Given the description of an element on the screen output the (x, y) to click on. 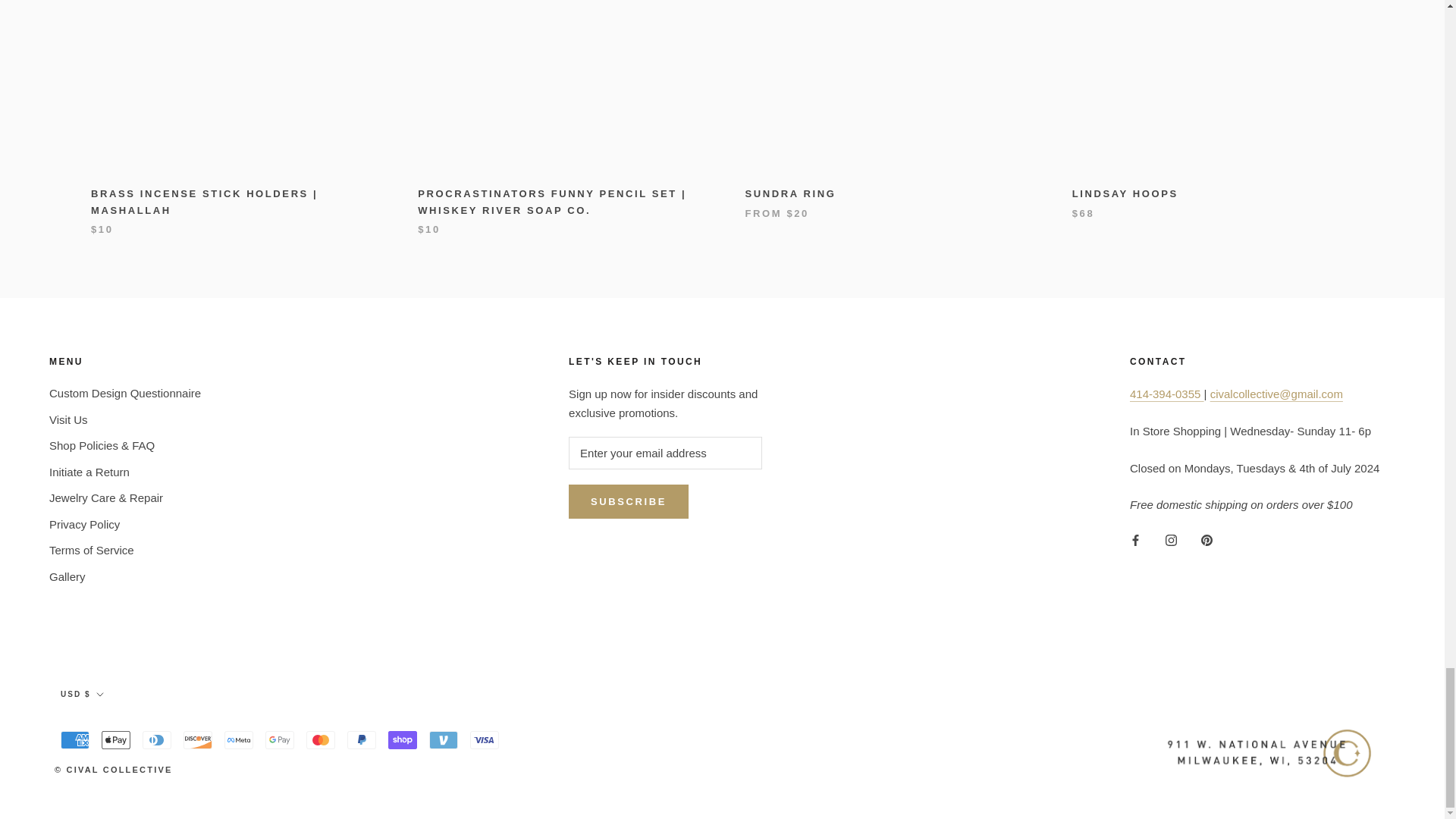
American Express (74, 740)
Venmo (443, 740)
PayPal (361, 740)
Apple Pay (116, 740)
Shop Pay (402, 740)
Diners Club (156, 740)
Visa (484, 740)
Mastercard (319, 740)
Meta Pay (238, 740)
Google Pay (279, 740)
Discover (197, 740)
